Given the description of an element on the screen output the (x, y) to click on. 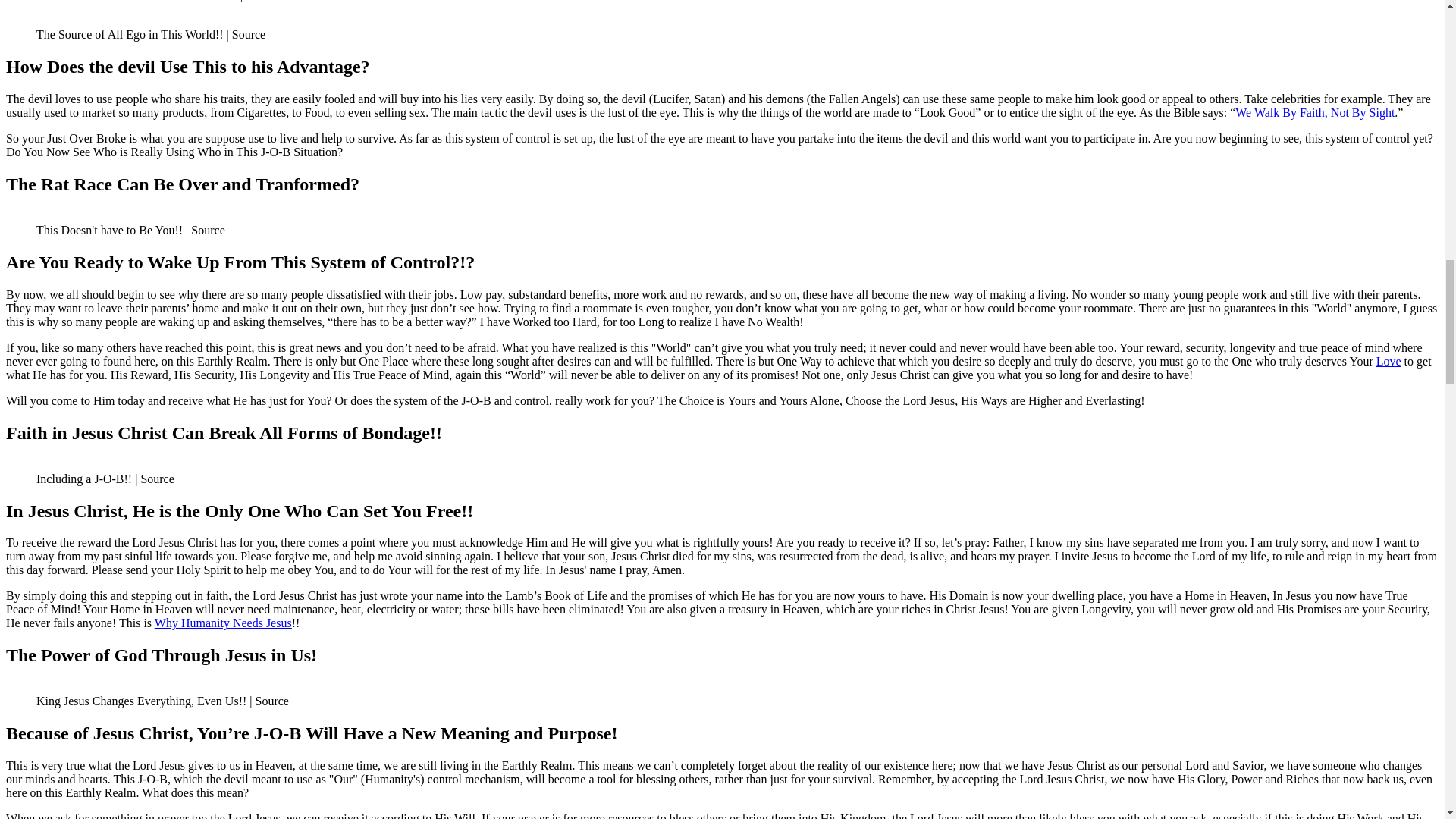
We Walk By Faith, Not By Sight (1314, 112)
Why Humanity Needs Jesus (223, 622)
Love (1387, 360)
